Given the description of an element on the screen output the (x, y) to click on. 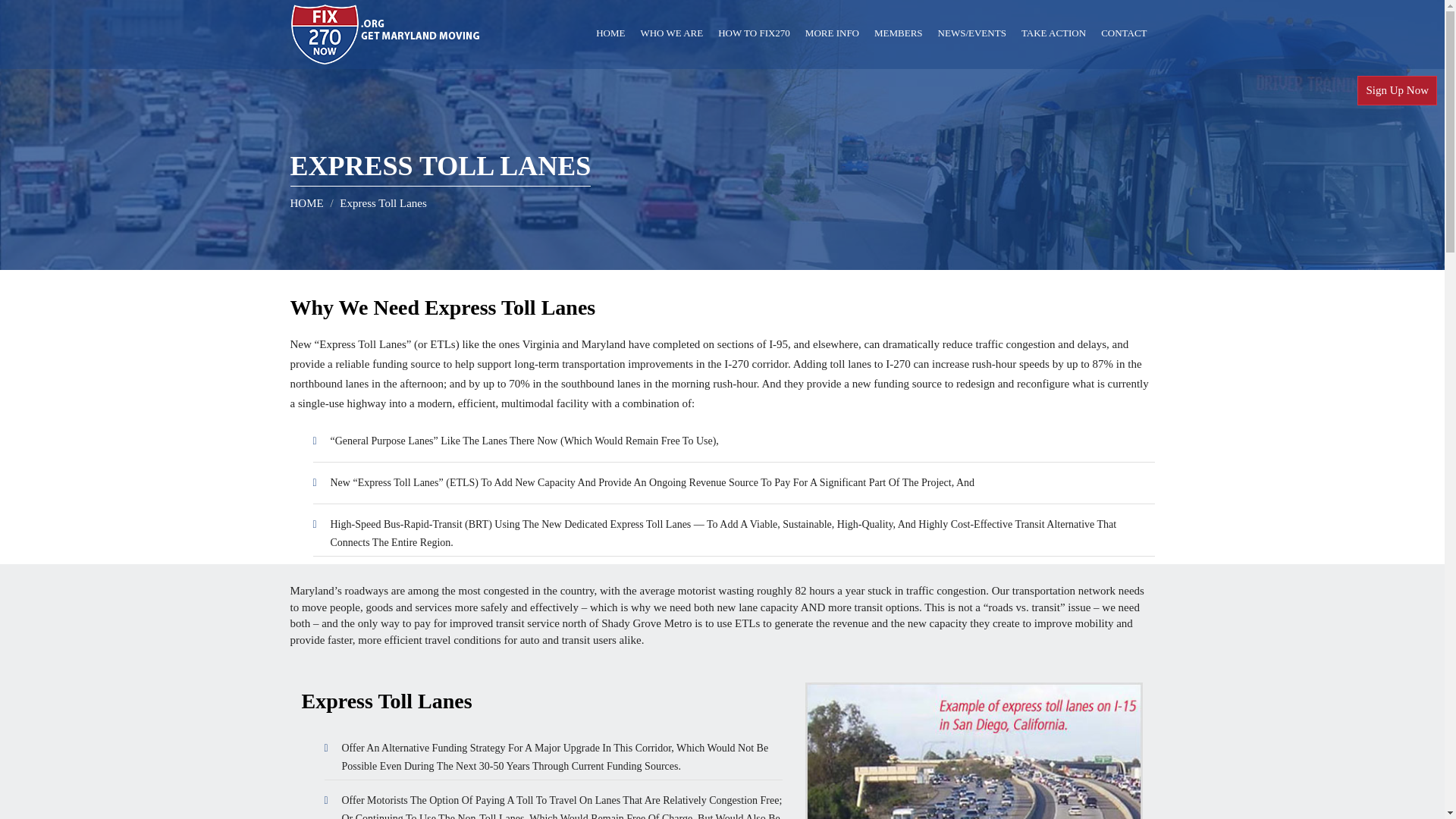
HOME (609, 33)
MORE INFO (831, 33)
WHO WE ARE (670, 33)
MEMBERS (898, 33)
HOME (306, 203)
Sign Up Now (1396, 90)
HOW TO FIX270 (753, 33)
TAKE ACTION (1053, 33)
CONTACT (1123, 33)
